Given the description of an element on the screen output the (x, y) to click on. 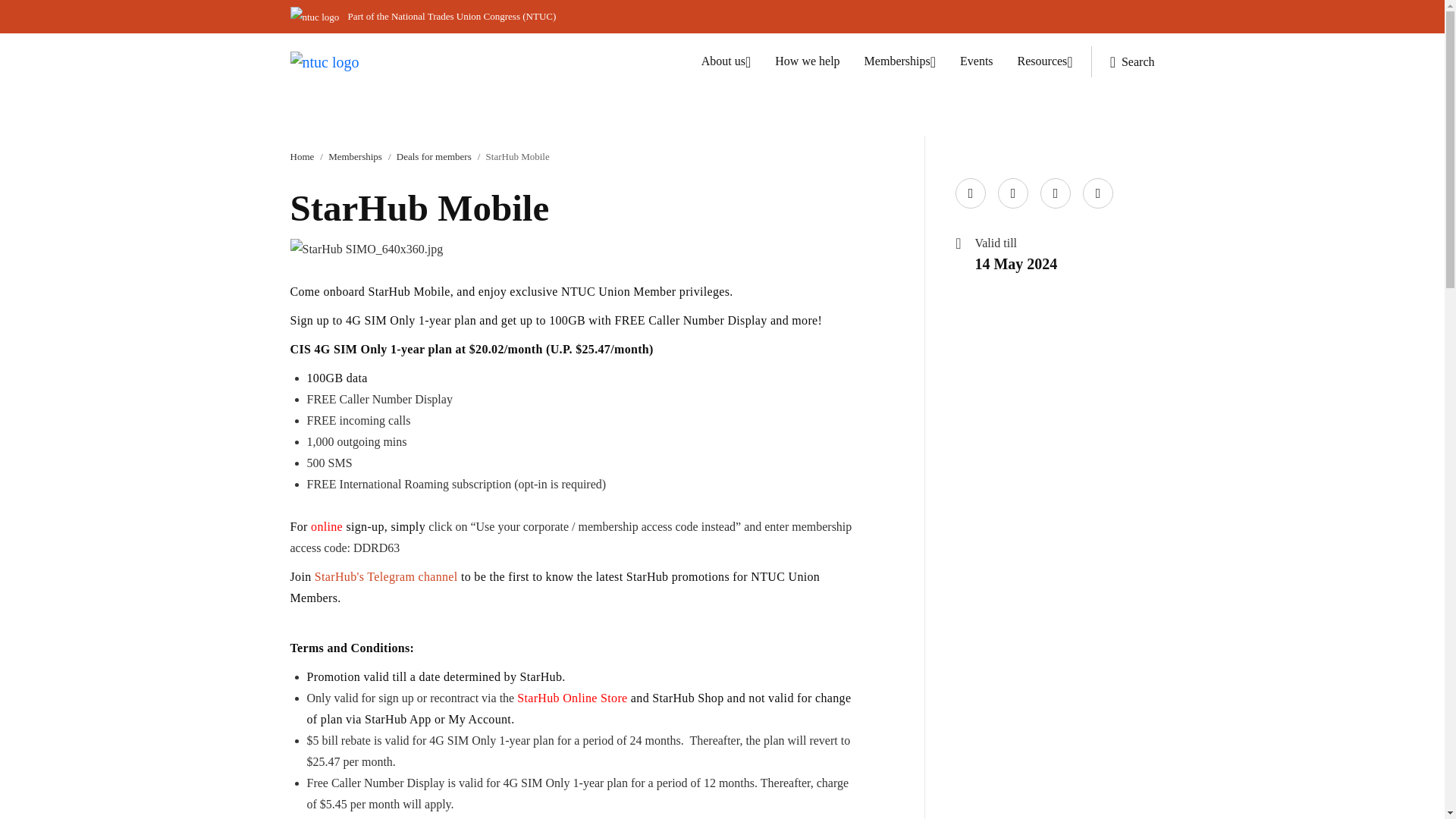
Events (975, 60)
Resources (1045, 61)
Deals for members (433, 156)
How we help (807, 60)
Search (1122, 60)
Memberships (900, 61)
StarHub Online Store (571, 697)
Share on LinkedIn (1053, 178)
Memberships (355, 156)
online (326, 526)
Twitter (1010, 178)
About us (726, 61)
Home (301, 156)
StarHub's Telegram channel (386, 576)
